Given the description of an element on the screen output the (x, y) to click on. 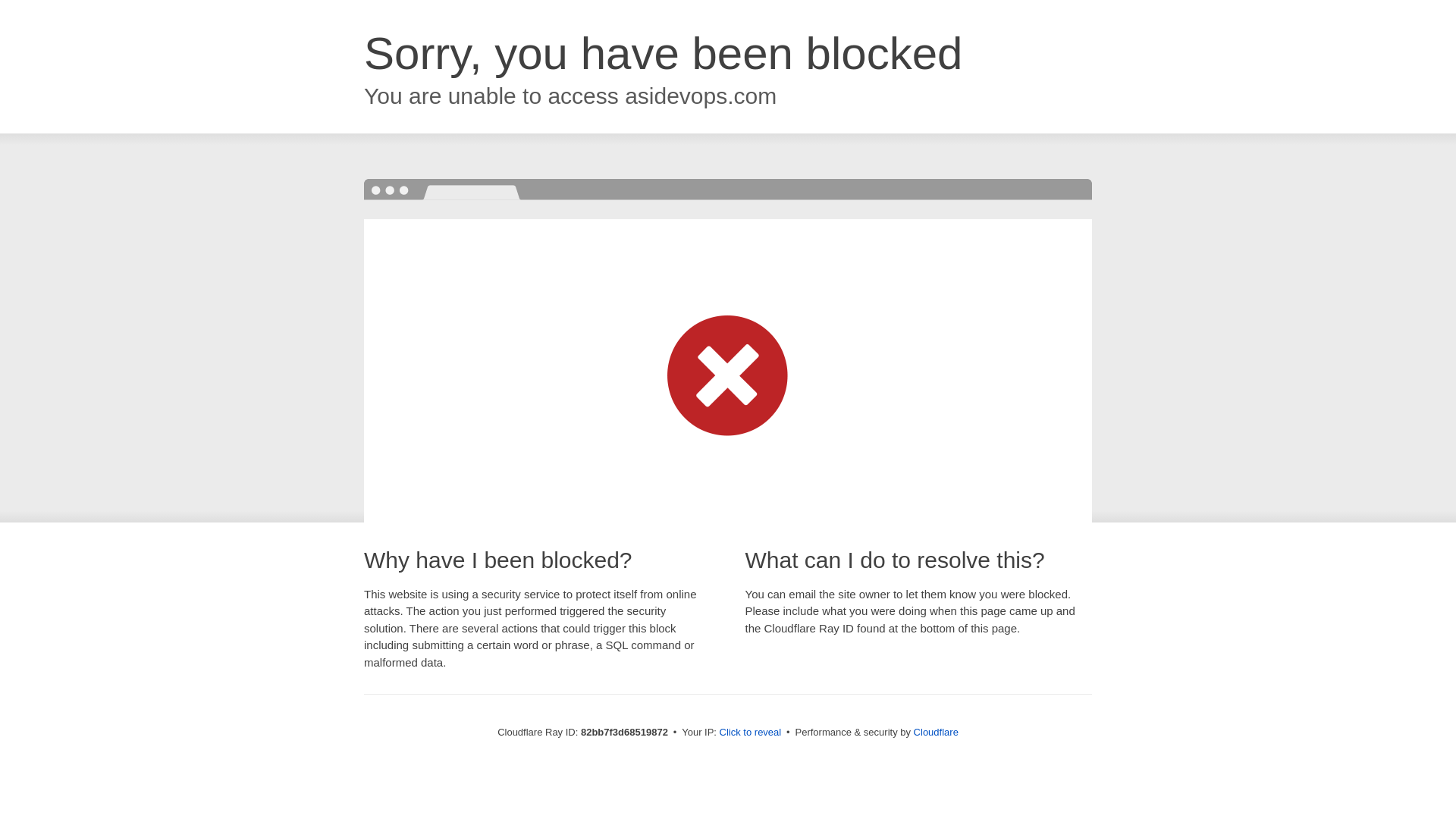
Click to reveal Element type: text (750, 732)
Cloudflare Element type: text (935, 731)
